Given the description of an element on the screen output the (x, y) to click on. 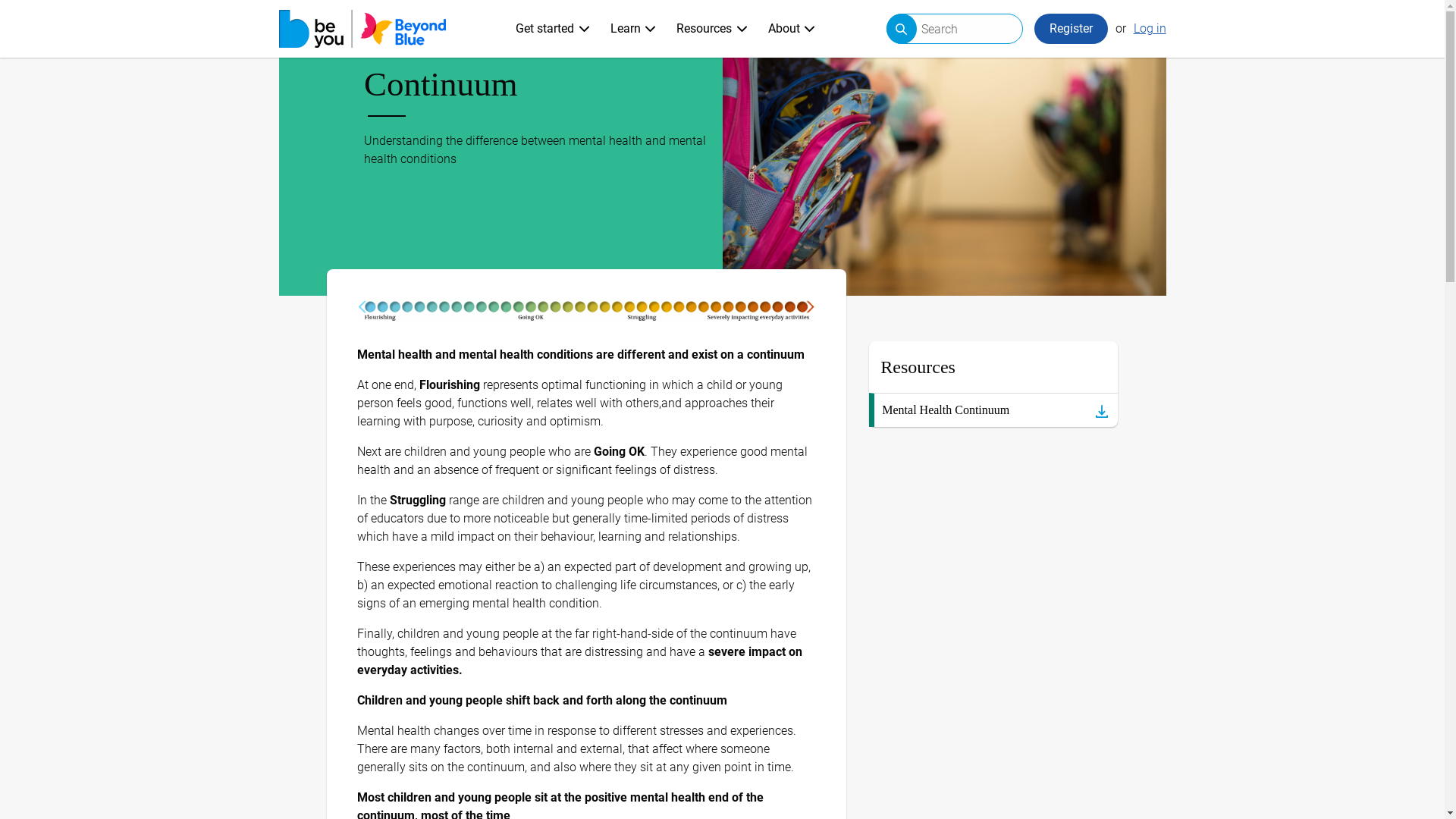
Be You home Element type: hover (362, 28)
Learn Element type: text (633, 28)
Mental Health Continuum  Element type: text (993, 409)
Resources Element type: text (711, 28)
Register Element type: text (1070, 28)
Get started Element type: text (552, 28)
Log in Element type: text (1148, 28)
About Element type: text (791, 28)
